Given the description of an element on the screen output the (x, y) to click on. 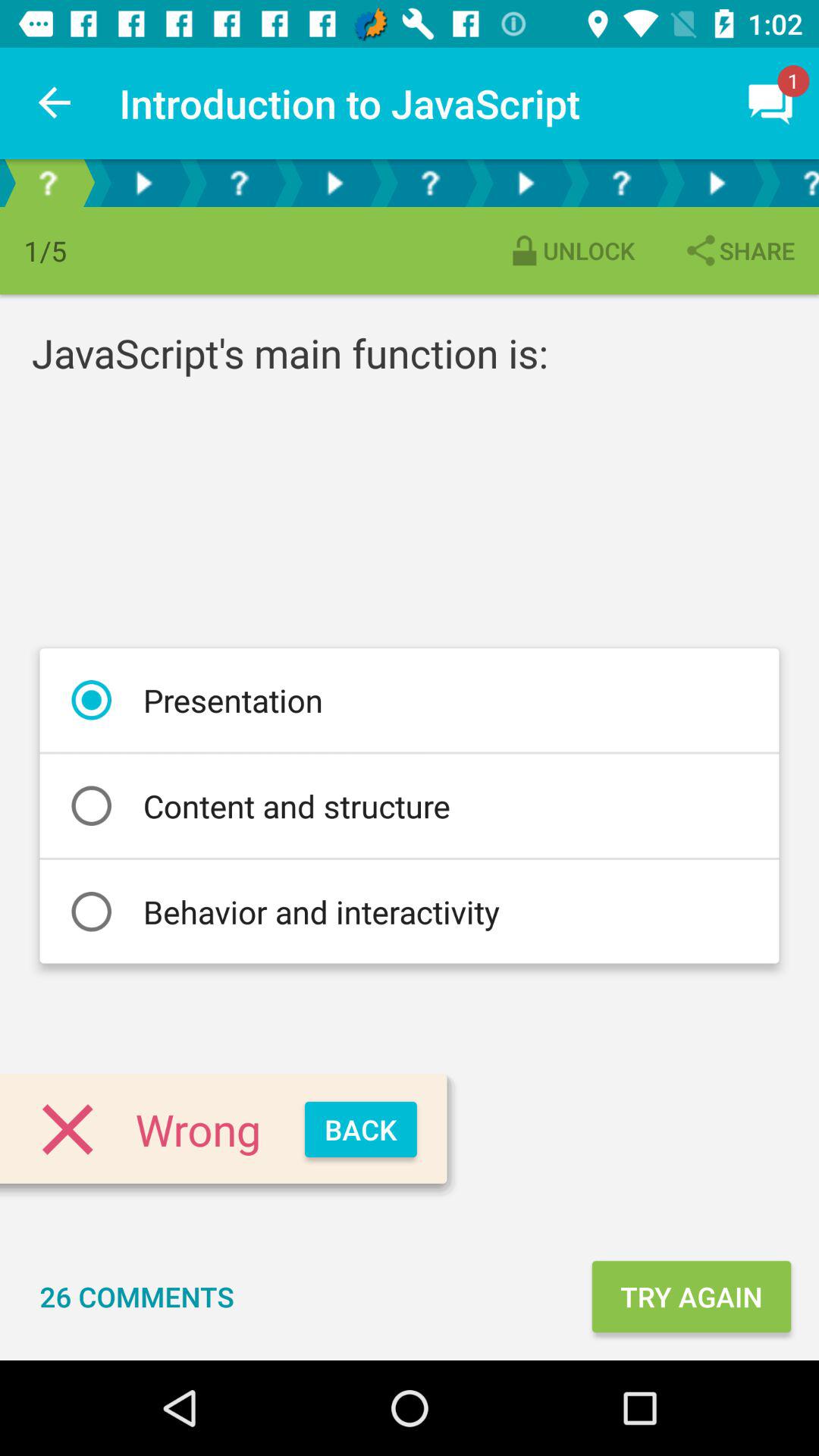
fifth question button (791, 183)
